Given the description of an element on the screen output the (x, y) to click on. 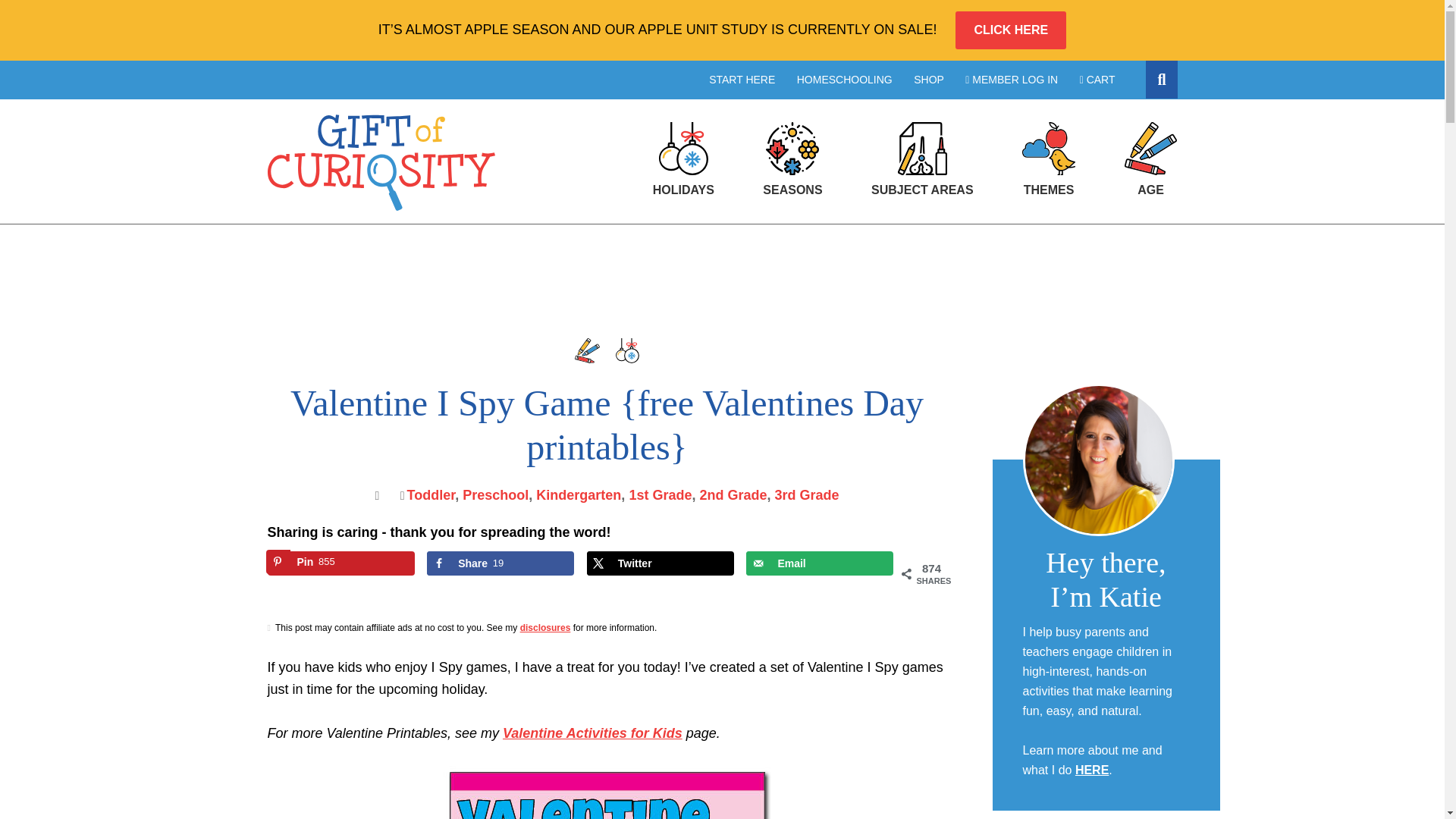
1st Grade (659, 494)
Share on Facebook (499, 563)
Kindergarten (499, 563)
disclosures (578, 494)
Send over email (544, 627)
Gift of Curiosity (339, 563)
MEMBER LOG IN (819, 563)
Save to Pinterest (380, 162)
